Given the description of an element on the screen output the (x, y) to click on. 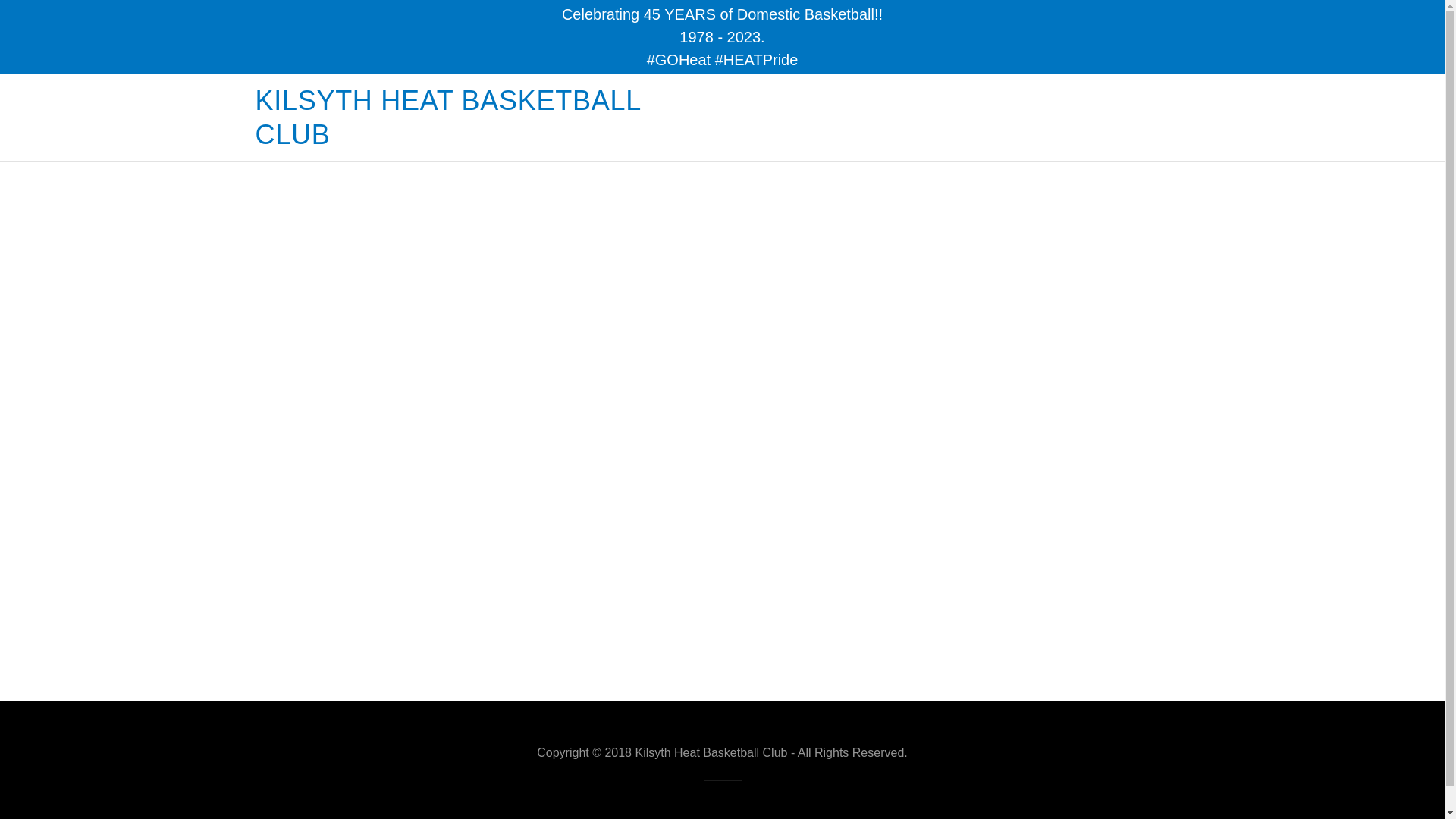
KILSYTH HEAT BASKETBALL CLUB Element type: text (487, 138)
